Given the description of an element on the screen output the (x, y) to click on. 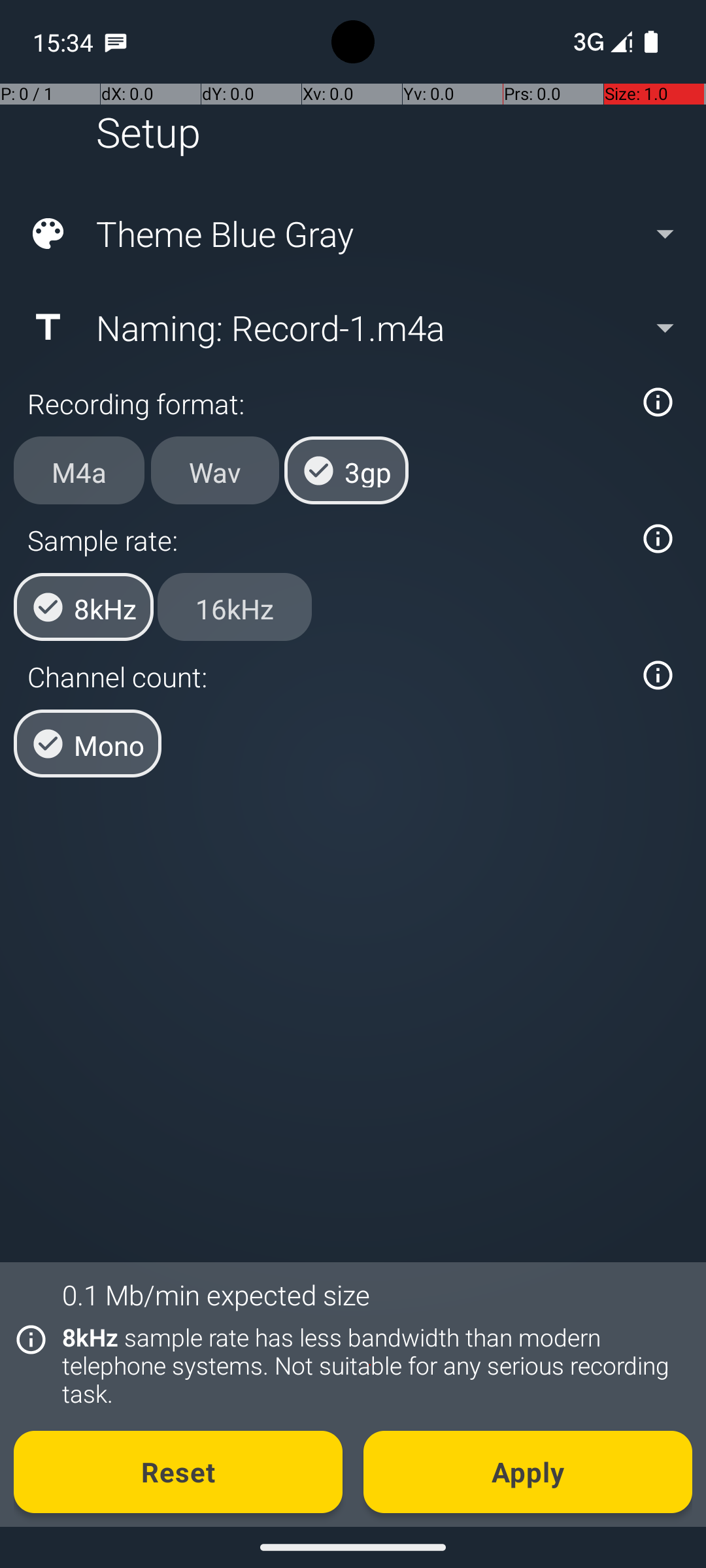
0.1 Mb/min expected size Element type: android.widget.TextView (215, 1294)
8kHz sample rate has less bandwidth than modern telephone systems. Not suitable for any serious recording task. Element type: android.widget.TextView (370, 1364)
